Given the description of an element on the screen output the (x, y) to click on. 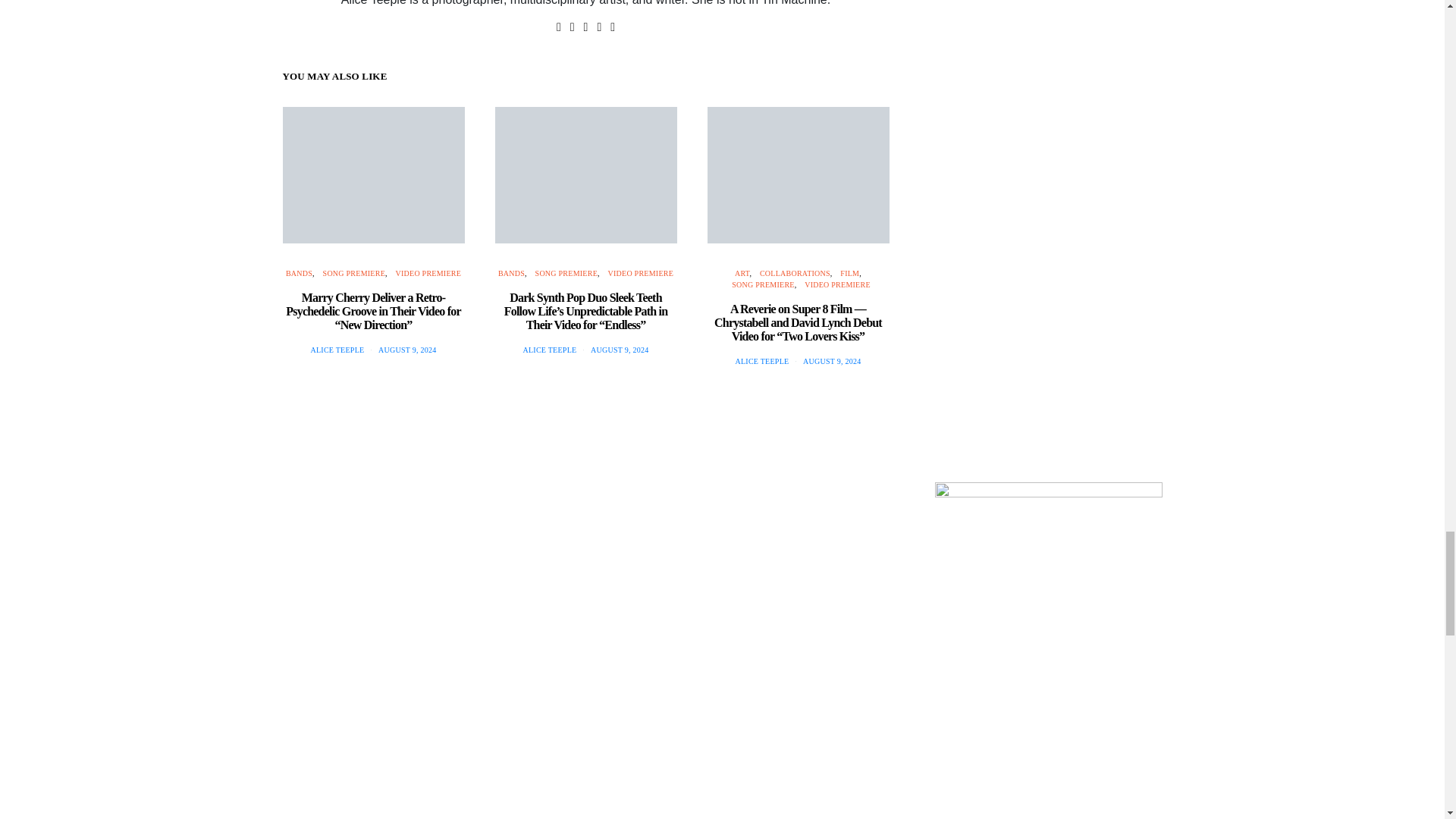
View all posts by Alice Teeple (762, 361)
View all posts by Alice Teeple (337, 349)
View all posts by Alice Teeple (549, 349)
